Given the description of an element on the screen output the (x, y) to click on. 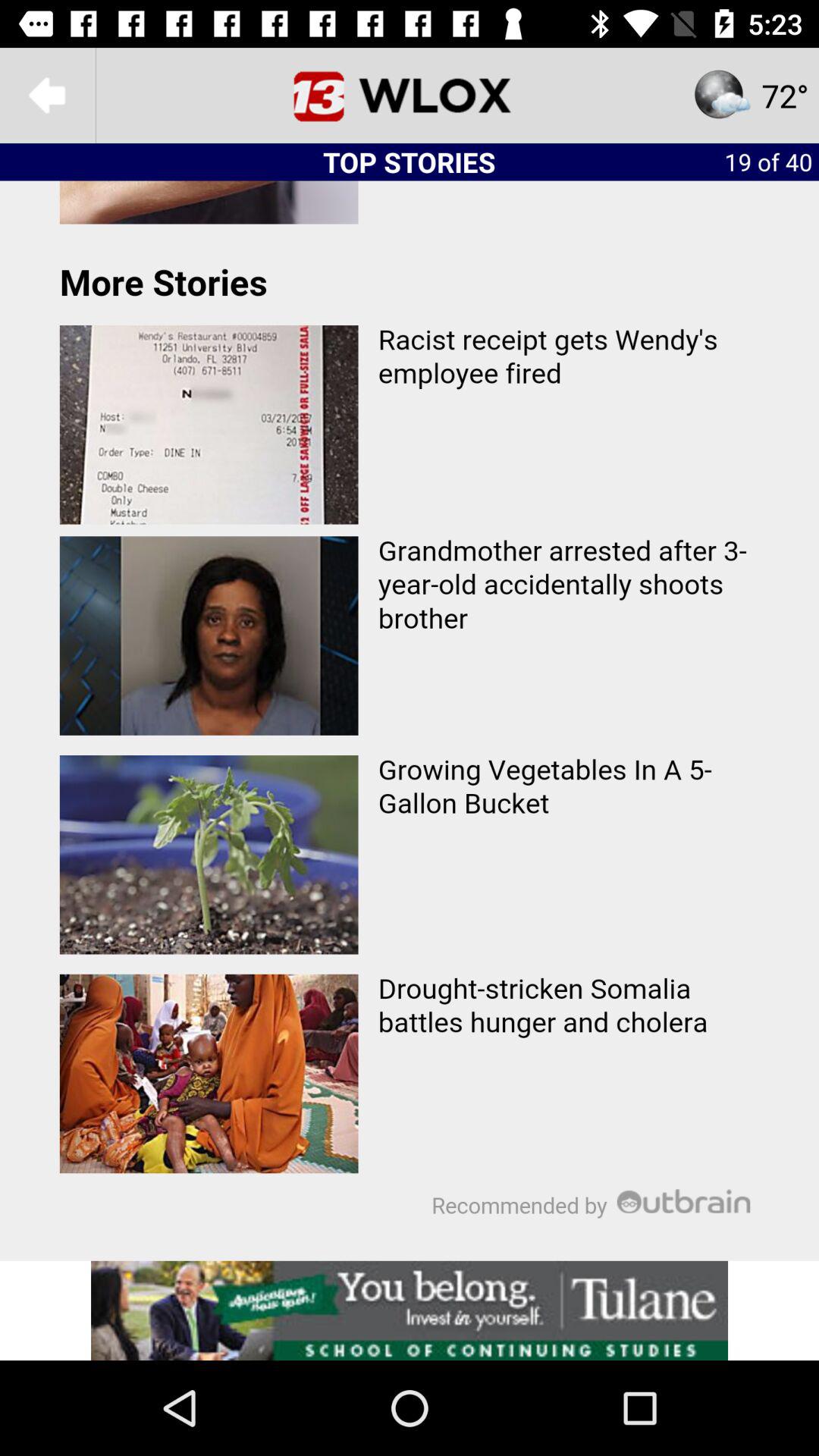
go to the homepage (409, 95)
